Given the description of an element on the screen output the (x, y) to click on. 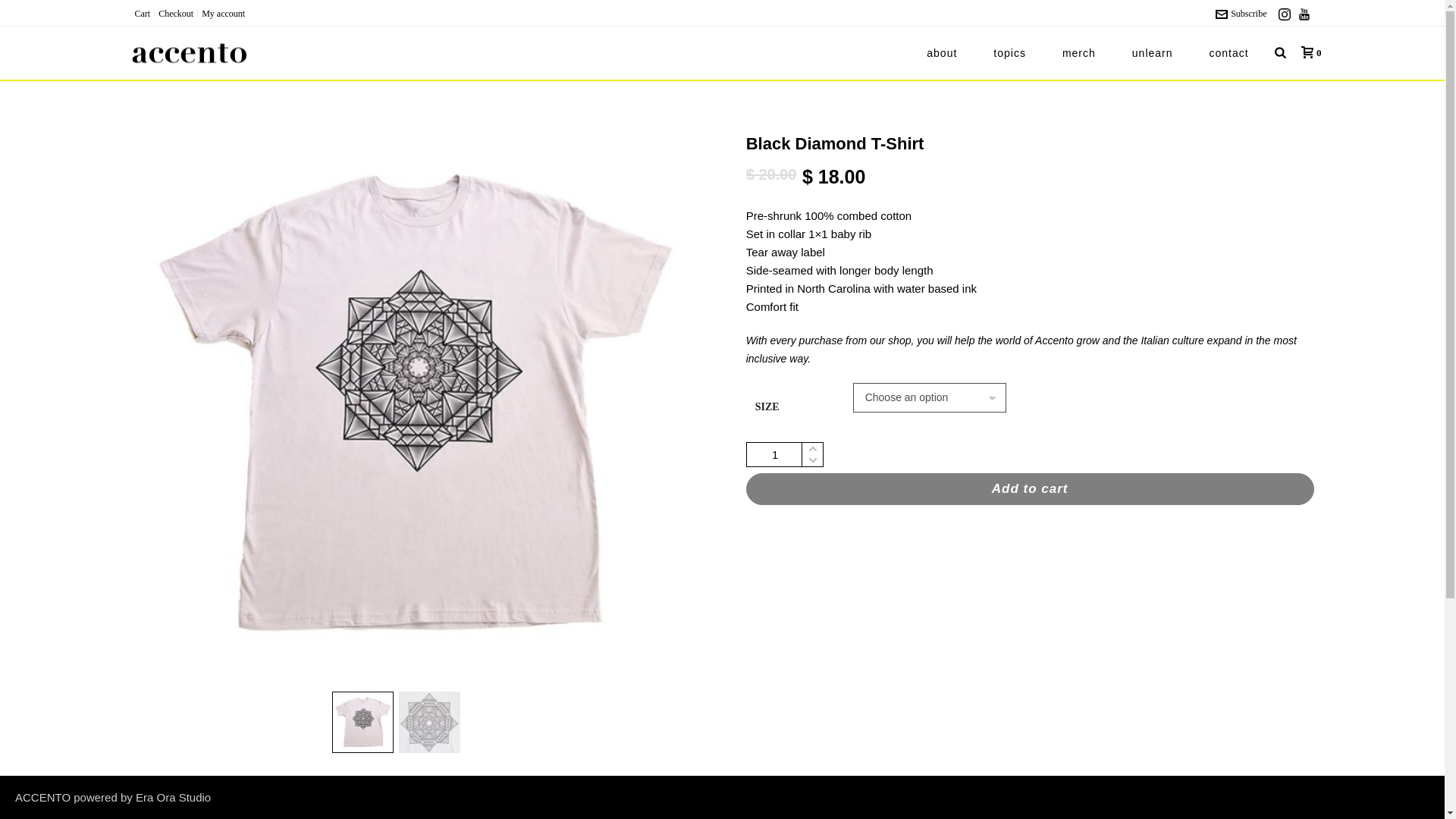
Add to cart (1029, 489)
about (942, 51)
My account (223, 13)
topics (1009, 51)
topics (1009, 51)
merch (1078, 51)
Subscribe (1240, 13)
merch (1078, 51)
Qty (784, 454)
Next (673, 410)
Sign Up to our Newsletter (369, 687)
contact (1228, 51)
PayPal (1029, 540)
contact (1228, 51)
